Given the description of an element on the screen output the (x, y) to click on. 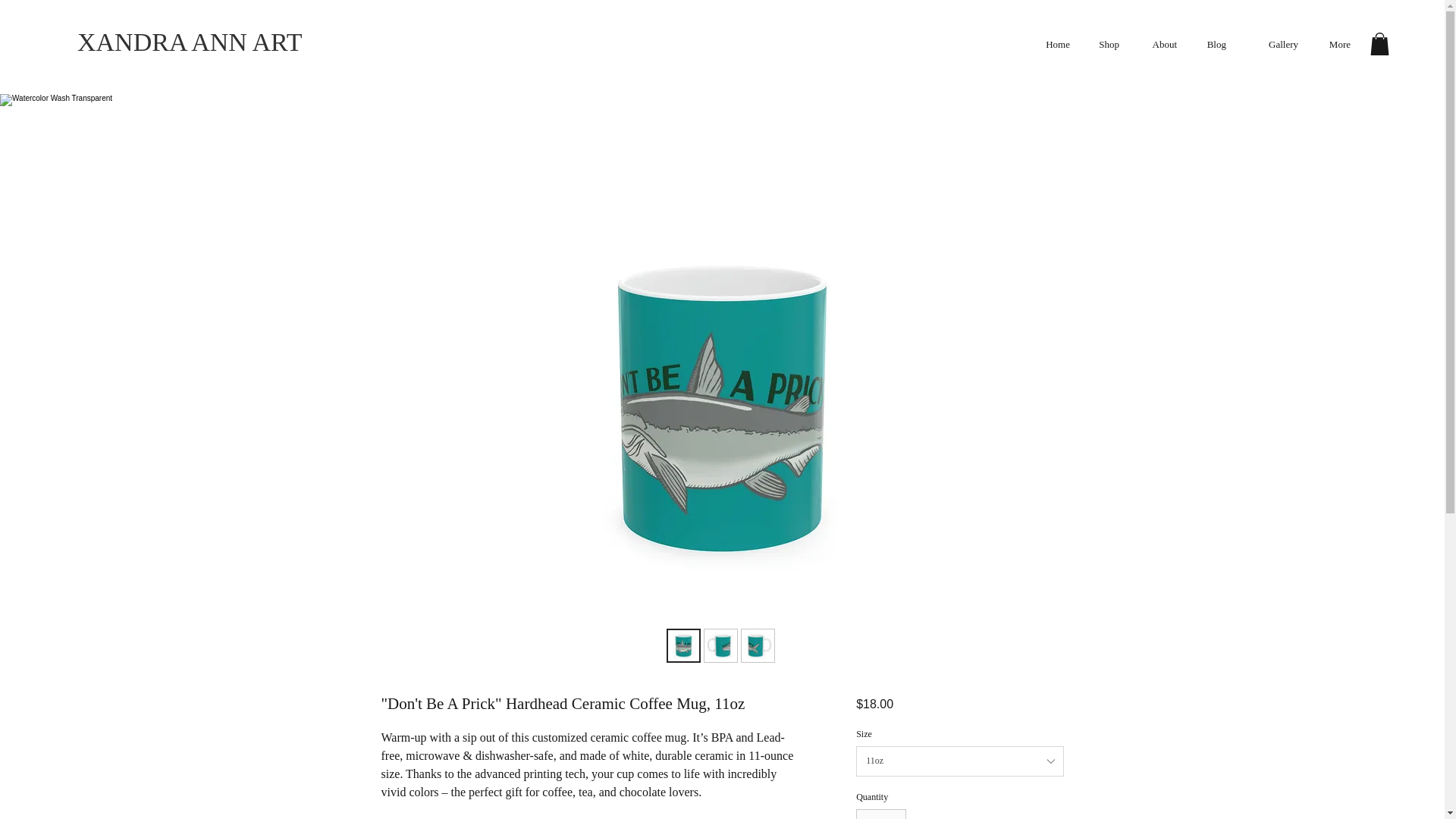
Home (1051, 44)
Gallery (1269, 44)
Shop (1101, 44)
About (1155, 44)
1 (880, 814)
XANDRA ANN ART (189, 41)
11oz (959, 761)
Blog (1209, 44)
